Given the description of an element on the screen output the (x, y) to click on. 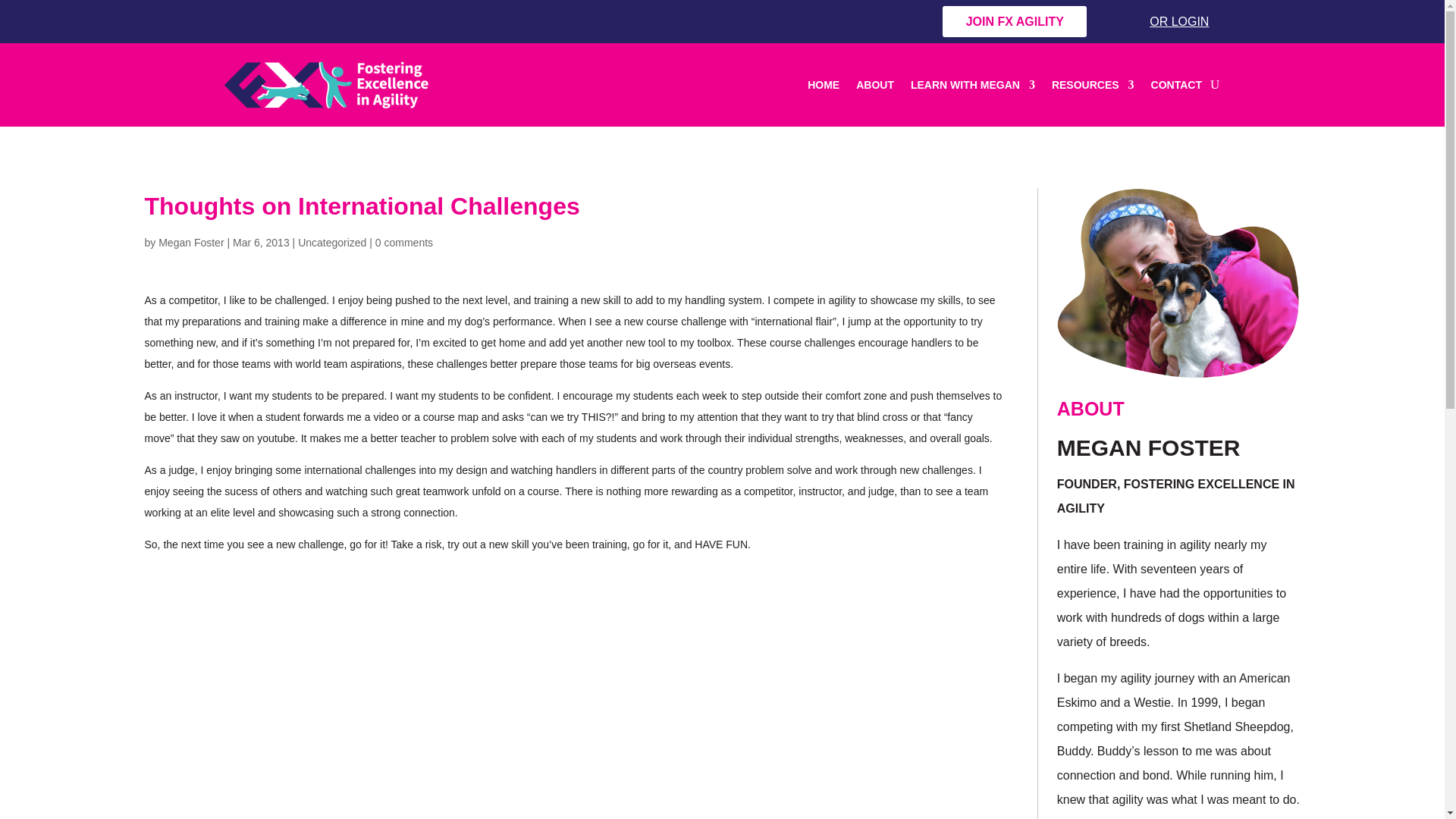
RESOURCES (1092, 84)
Posts by Megan Foster (191, 242)
OR LOGIN (1166, 20)
JOIN FX AGILITY (1014, 20)
LEARN WITH MEGAN (973, 84)
0 comments (403, 242)
Megan Foster (191, 242)
Uncategorized (332, 242)
